Given the description of an element on the screen output the (x, y) to click on. 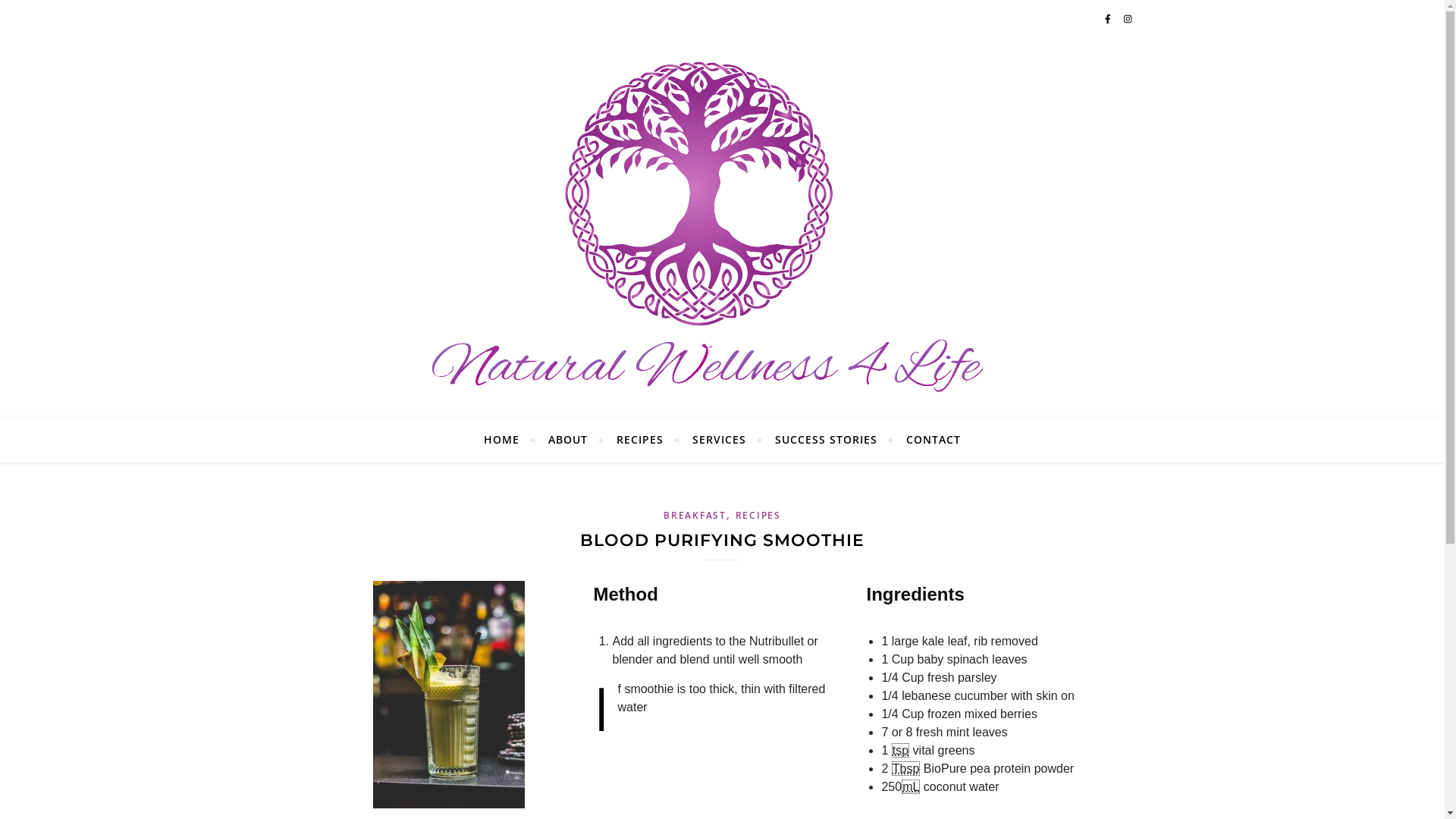
RECIPES Element type: text (639, 439)
BREAKFAST Element type: text (694, 514)
ABOUT Element type: text (567, 439)
RECIPES Element type: text (758, 514)
SERVICES Element type: text (719, 439)
HOME Element type: text (507, 439)
SUCCESS STORIES Element type: text (826, 439)
CONTACT Element type: text (926, 439)
